Given the description of an element on the screen output the (x, y) to click on. 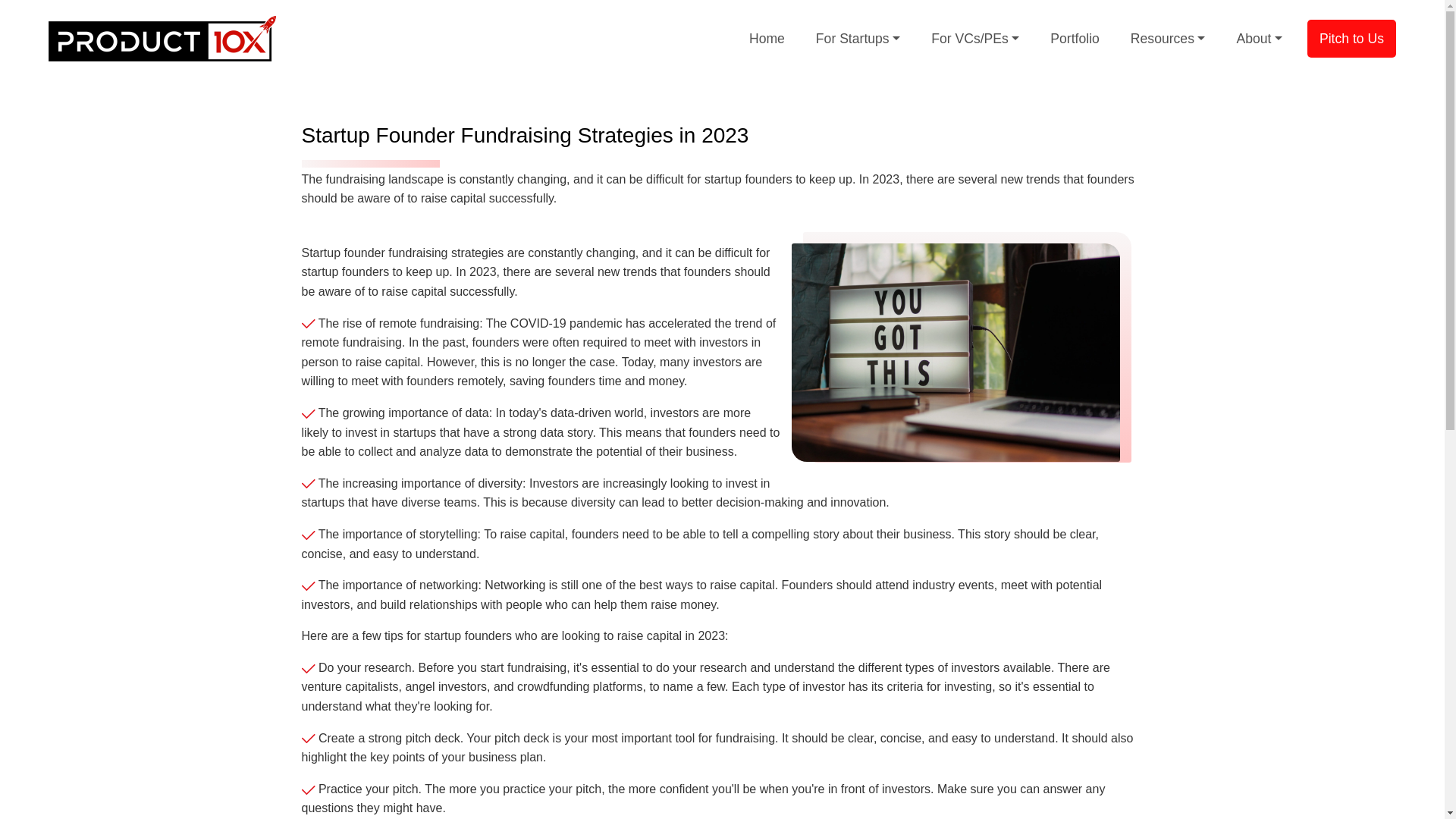
For Startups (857, 38)
Pitch to Us (1351, 38)
About (1258, 38)
Portfolio (1074, 38)
Home (766, 38)
Resources (1167, 38)
Product10x (162, 38)
